Given the description of an element on the screen output the (x, y) to click on. 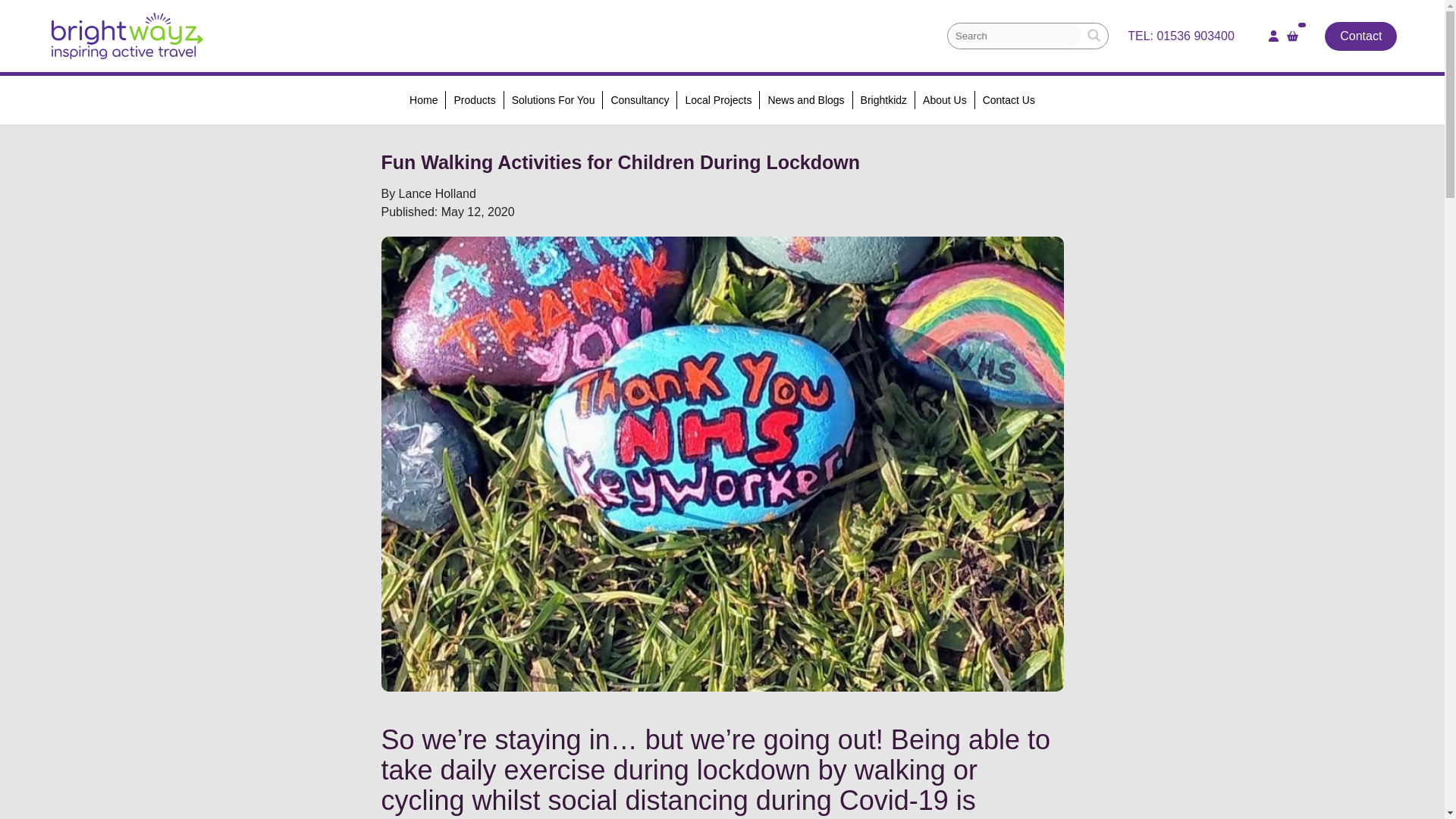
Contact (1360, 36)
Contact Us (1008, 99)
Consultancy (639, 99)
About Us (944, 99)
Basket (1292, 35)
Solutions For You (552, 99)
Search (1093, 35)
Login (1273, 35)
Home (423, 99)
Local Projects (717, 99)
Products (473, 99)
01536 903400 (1194, 35)
Fun Walking Activities for Children During Lockdown (126, 35)
Brightkidz (883, 99)
News and Blogs (805, 99)
